Given the description of an element on the screen output the (x, y) to click on. 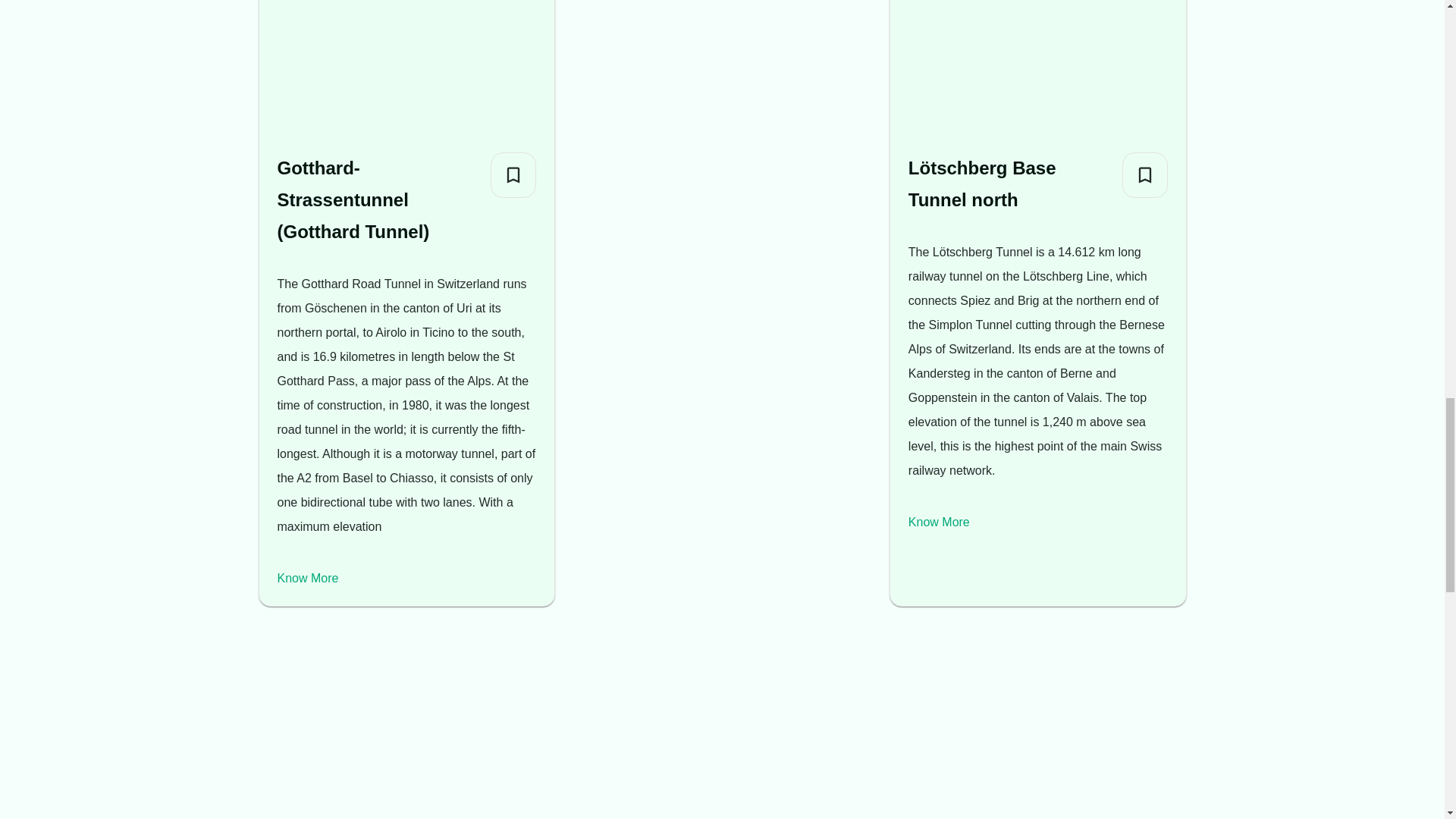
Add to Bucket List (512, 175)
Add to Bucket List (1144, 175)
Know More (938, 521)
Know More (308, 577)
